Given the description of an element on the screen output the (x, y) to click on. 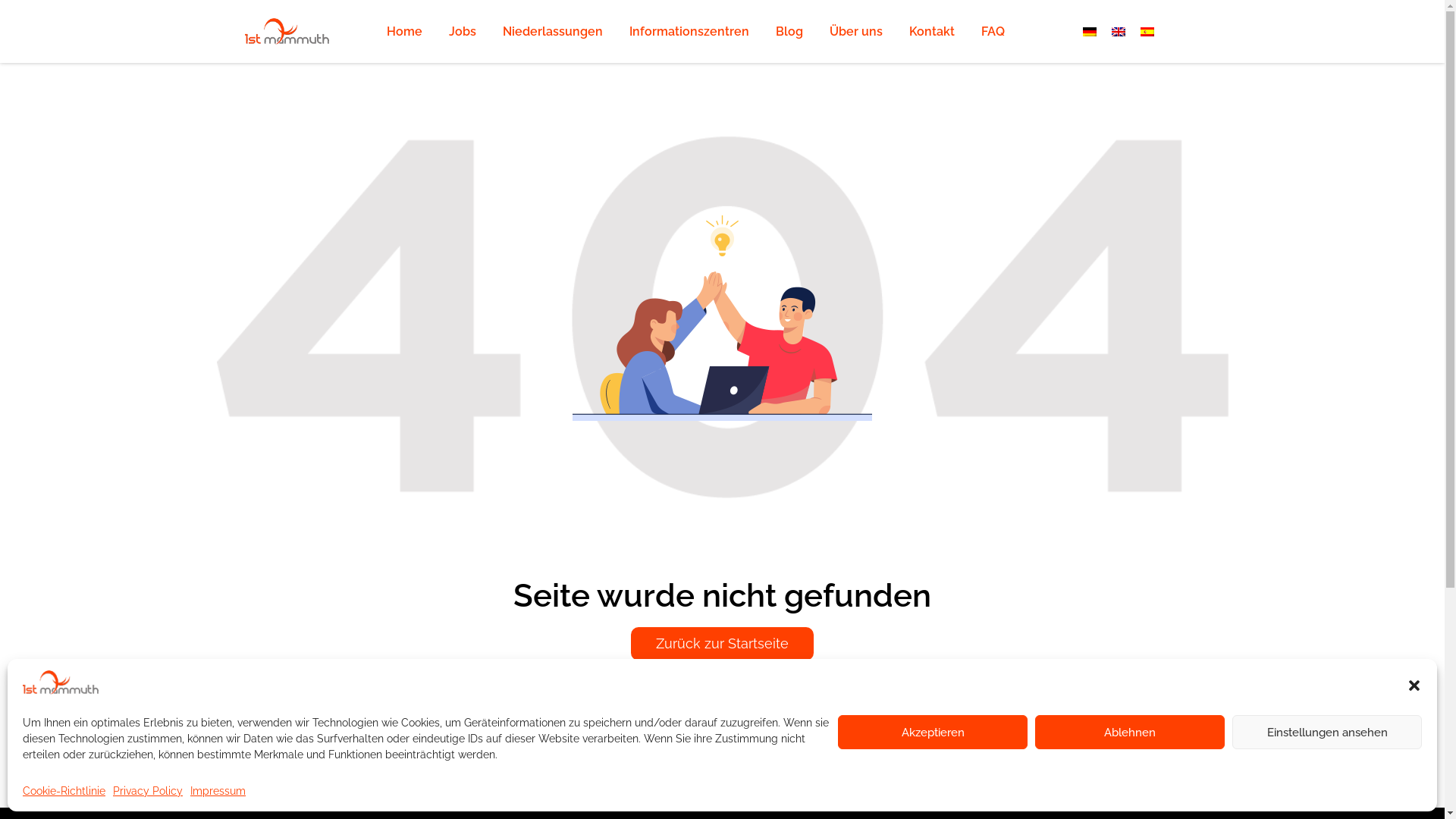
Impressum Element type: text (217, 790)
Ablehnen Element type: text (1129, 732)
Blog Element type: text (789, 31)
Privacy Policy Element type: text (147, 790)
Kontakt Element type: text (931, 31)
Home Element type: text (404, 31)
Einstellungen ansehen Element type: text (1326, 732)
Cookie-Richtlinie Element type: text (63, 790)
FAQ Element type: text (992, 31)
Informationszentren Element type: text (689, 31)
Akzeptieren Element type: text (932, 732)
Niederlassungen Element type: text (552, 31)
Jobs Element type: text (462, 31)
